Given the description of an element on the screen output the (x, y) to click on. 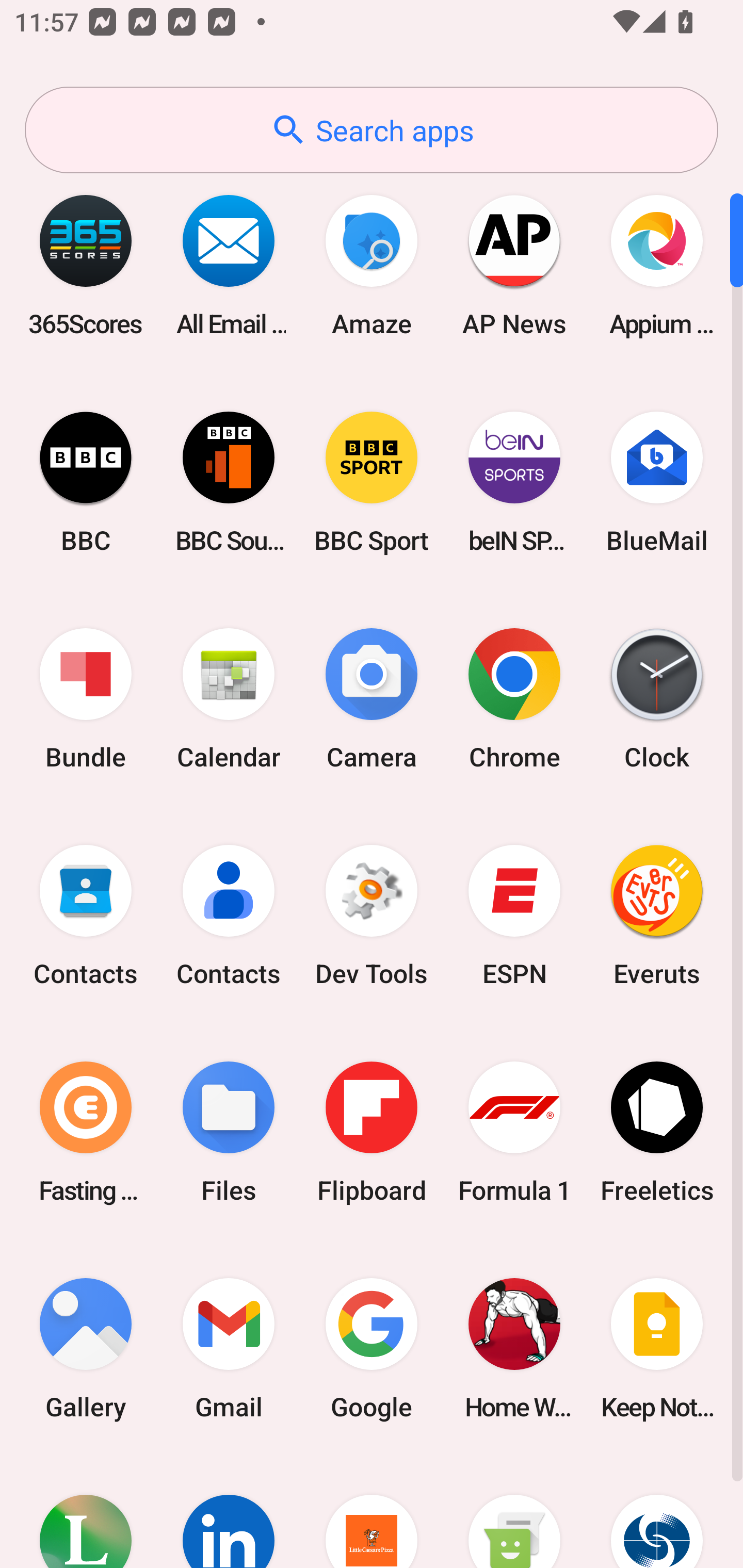
  Search apps (371, 130)
365Scores (85, 264)
All Email Connect (228, 264)
Amaze (371, 264)
AP News (514, 264)
Appium Settings (656, 264)
BBC (85, 482)
BBC Sounds (228, 482)
BBC Sport (371, 482)
beIN SPORTS (514, 482)
BlueMail (656, 482)
Bundle (85, 699)
Calendar (228, 699)
Camera (371, 699)
Chrome (514, 699)
Clock (656, 699)
Contacts (85, 915)
Contacts (228, 915)
Dev Tools (371, 915)
ESPN (514, 915)
Everuts (656, 915)
Fasting Coach (85, 1131)
Files (228, 1131)
Flipboard (371, 1131)
Formula 1 (514, 1131)
Freeletics (656, 1131)
Gallery (85, 1348)
Gmail (228, 1348)
Google (371, 1348)
Home Workout (514, 1348)
Keep Notes (656, 1348)
Lifesum (85, 1512)
LinkedIn (228, 1512)
Little Caesars Pizza (371, 1512)
Messaging (514, 1512)
MyObservatory (656, 1512)
